Given the description of an element on the screen output the (x, y) to click on. 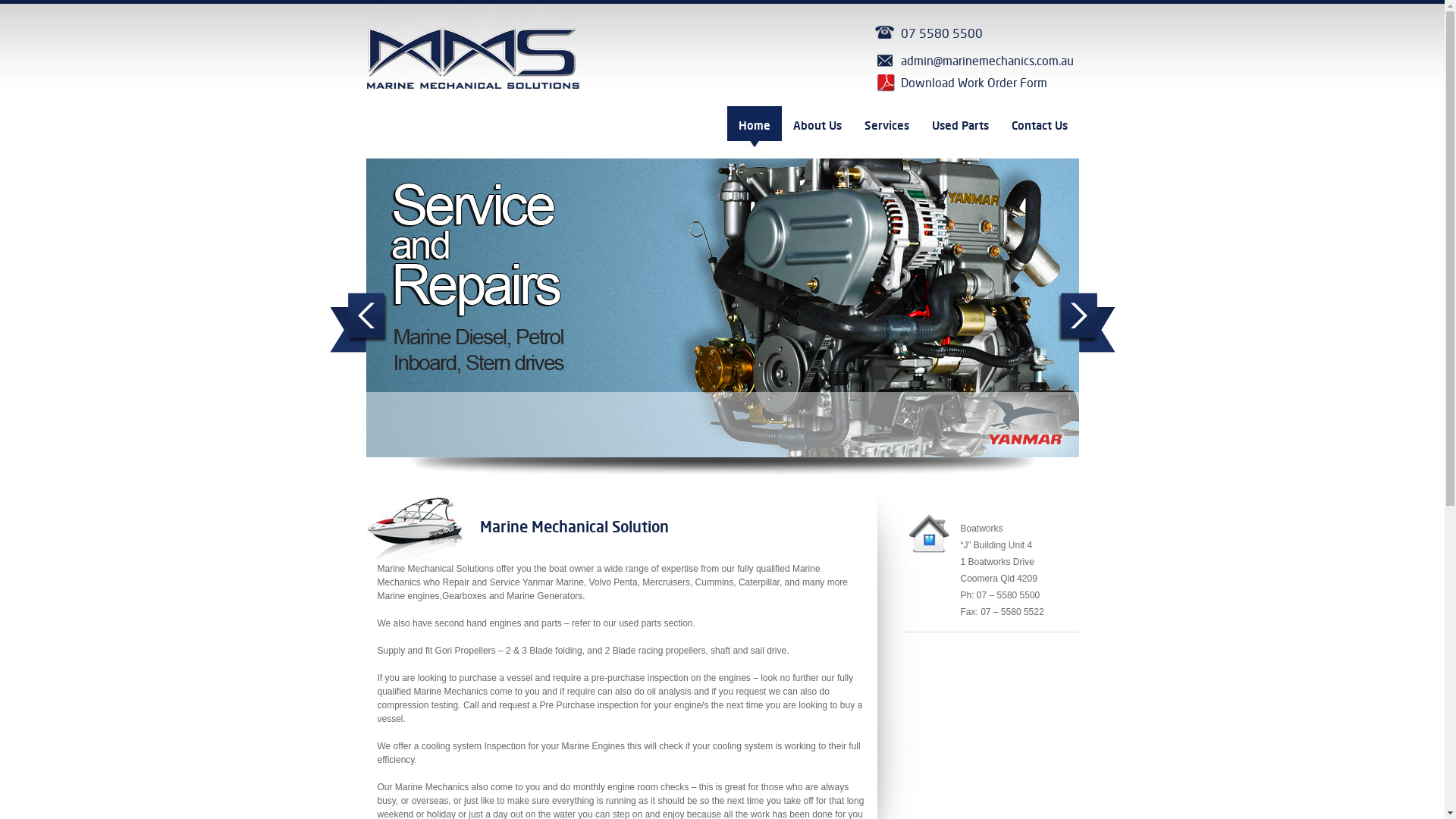
Services Element type: text (885, 126)
Next Element type: text (1086, 322)
About Us Element type: text (816, 126)
Download Work Order Form Element type: text (975, 83)
1 Element type: text (570, 480)
2 Element type: text (590, 480)
Prev Element type: text (358, 322)
admin@marinemechanics.com.au Element type: text (975, 61)
Contact Us Element type: text (1038, 126)
Home Element type: text (753, 126)
3 Element type: text (608, 480)
Used Parts Element type: text (960, 126)
